Given the description of an element on the screen output the (x, y) to click on. 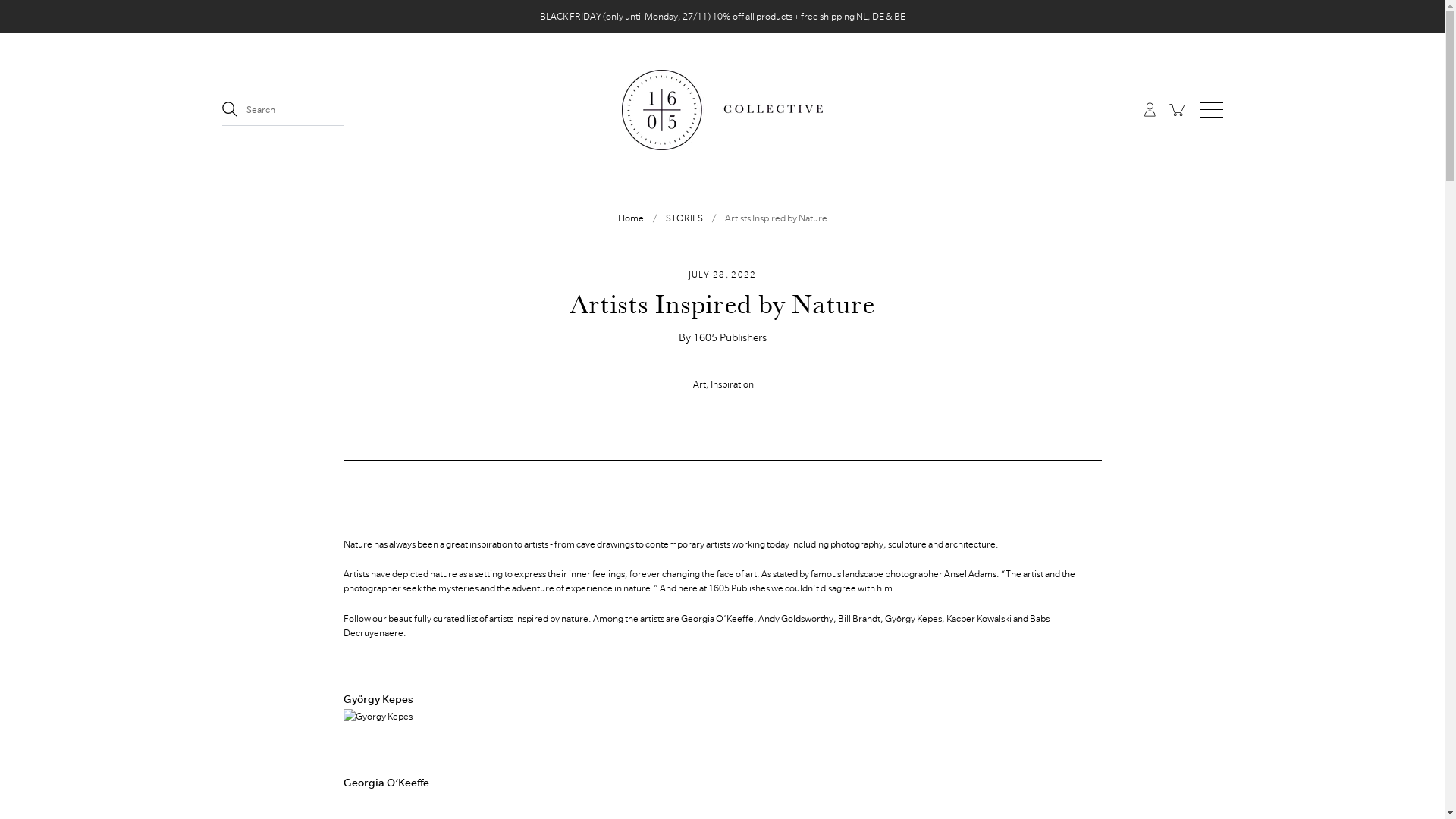
Home Element type: text (630, 217)
Inspiration Element type: text (731, 384)
STORIES Element type: text (683, 217)
Art, Element type: text (701, 384)
Cart Element type: text (1179, 109)
Login Element type: text (1147, 109)
